Given the description of an element on the screen output the (x, y) to click on. 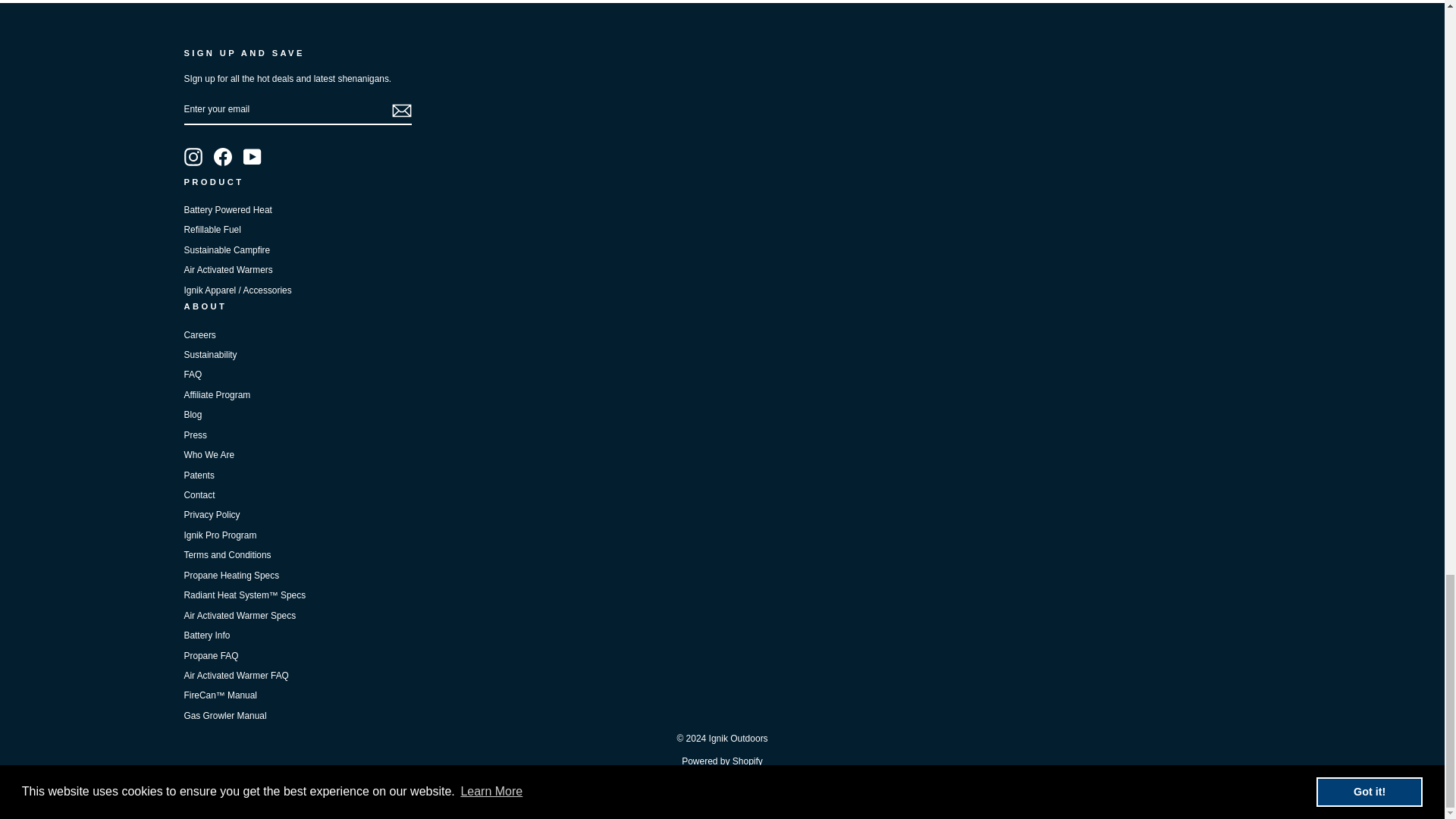
Ignik Outdoors on Facebook (222, 157)
Ignik Outdoors on Instagram (192, 157)
icon-email (400, 110)
instagram (192, 157)
Ignik Outdoors on YouTube (251, 157)
